Given the description of an element on the screen output the (x, y) to click on. 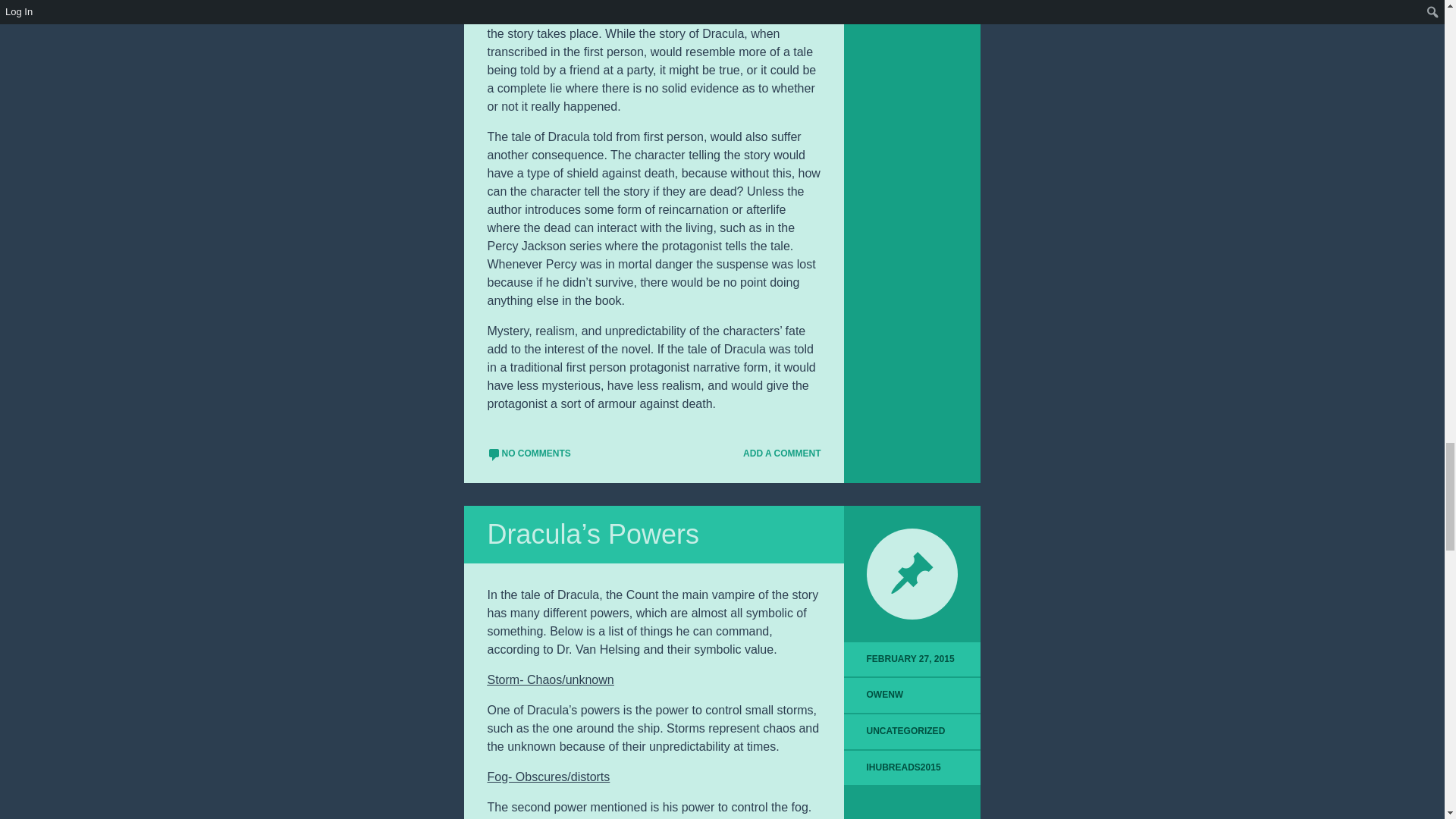
OWENW (885, 694)
View all posts by owenw (885, 694)
FEBRUARY 27, 2015 (911, 659)
NO COMMENTS (528, 453)
ADD A COMMENT (775, 453)
